Given the description of an element on the screen output the (x, y) to click on. 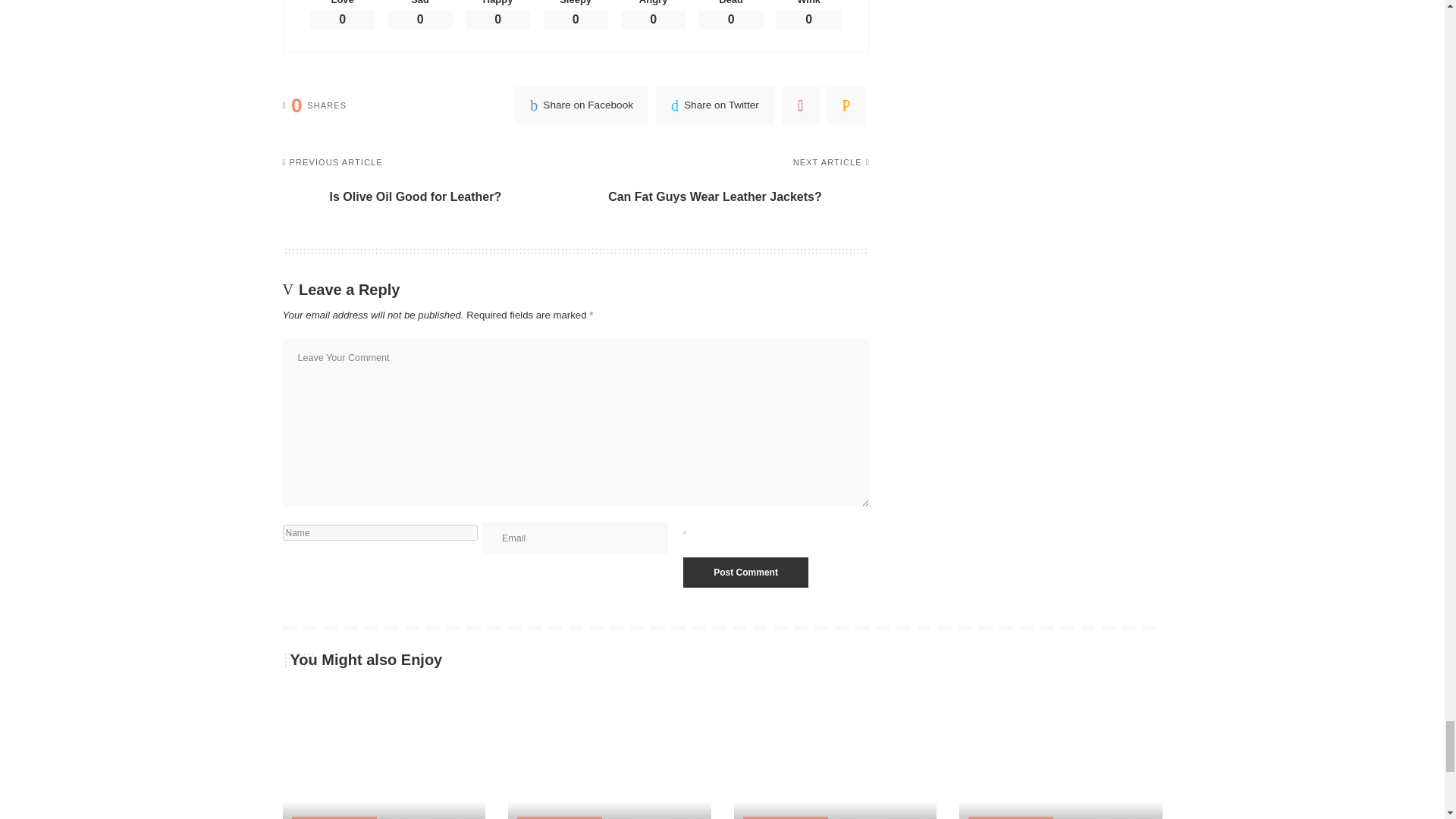
Post Comment (745, 572)
